Given the description of an element on the screen output the (x, y) to click on. 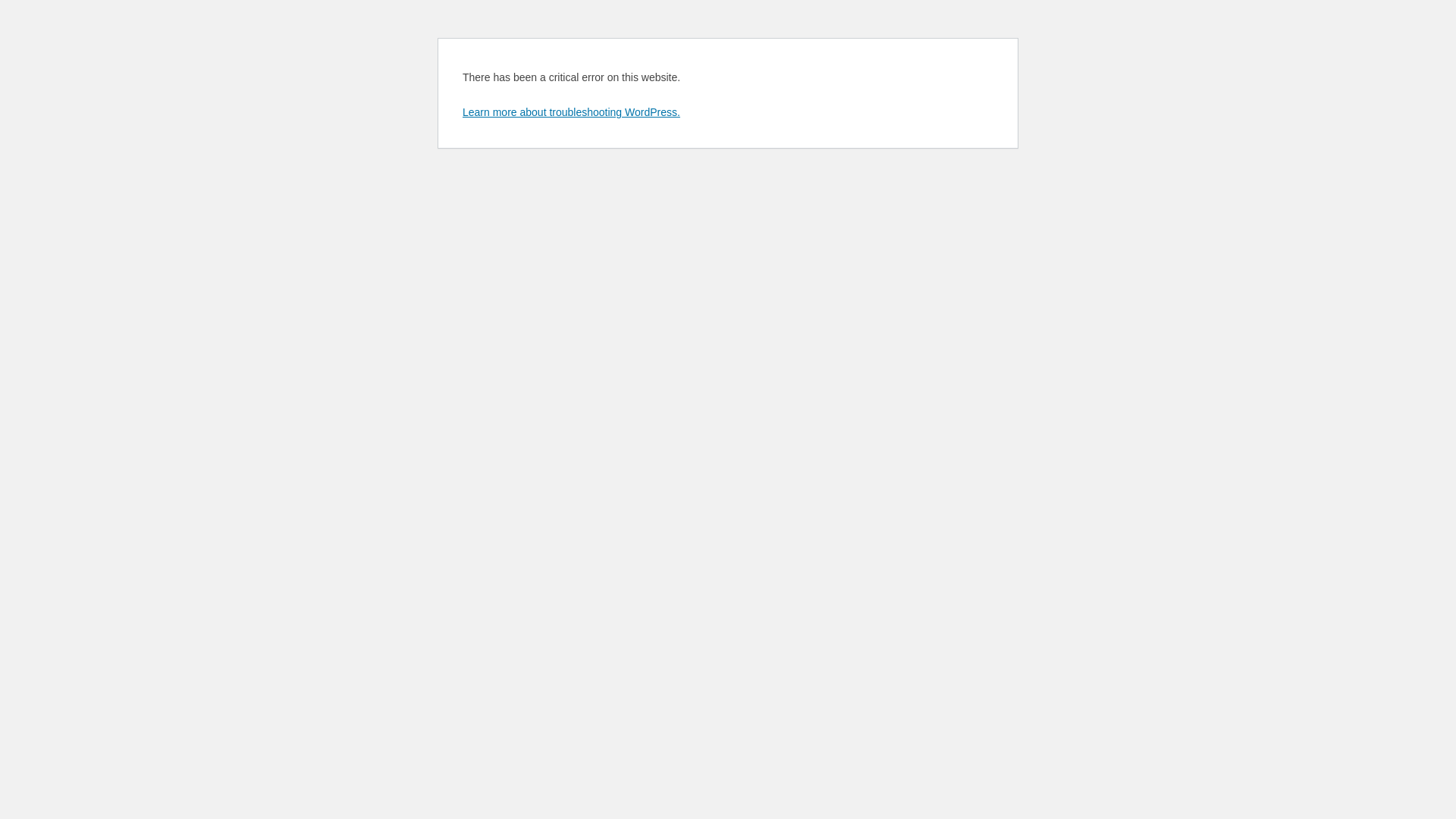
Learn more about troubleshooting WordPress. Element type: text (571, 112)
